Given the description of an element on the screen output the (x, y) to click on. 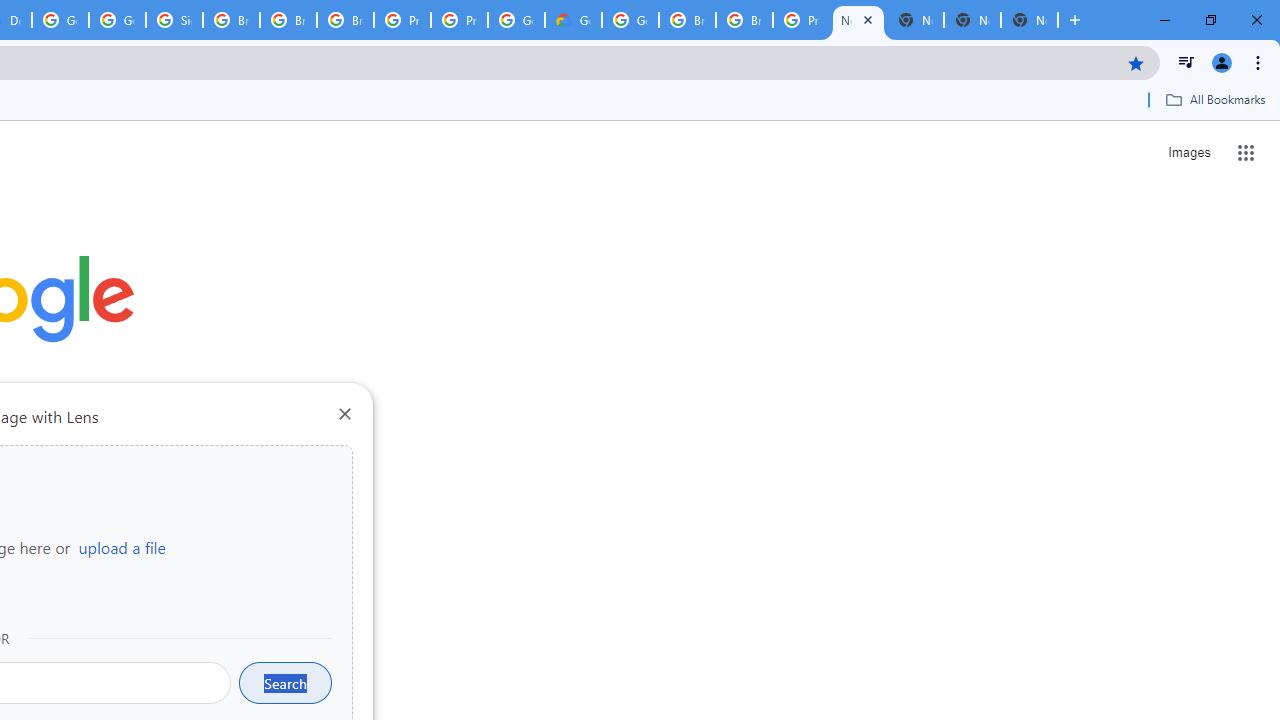
Browse Chrome as a guest - Computer - Google Chrome Help (231, 20)
Browse Chrome as a guest - Computer - Google Chrome Help (687, 20)
Google Cloud Estimate Summary (573, 20)
New Tab (1029, 20)
Google Cloud Platform (516, 20)
Google Cloud Platform (60, 20)
New Tab (858, 20)
